Given the description of an element on the screen output the (x, y) to click on. 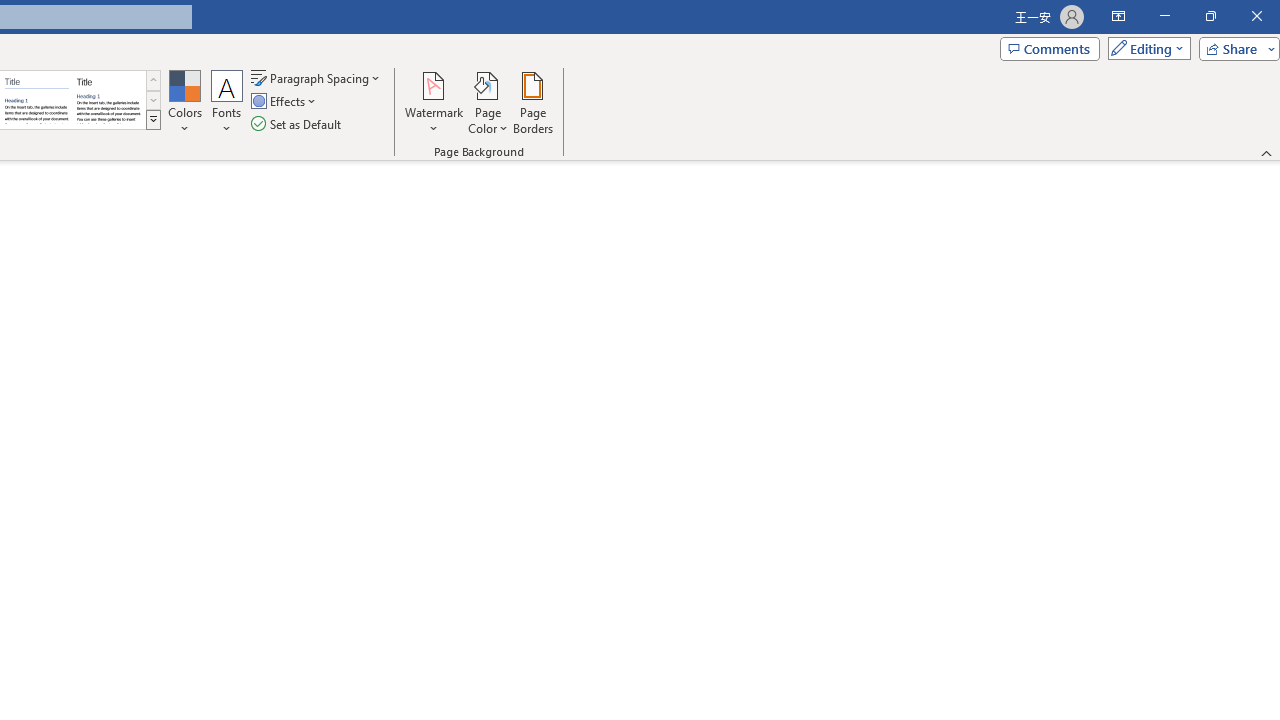
Page Borders... (532, 102)
Page Color (487, 102)
Word 2013 (108, 100)
Colors (184, 102)
